Given the description of an element on the screen output the (x, y) to click on. 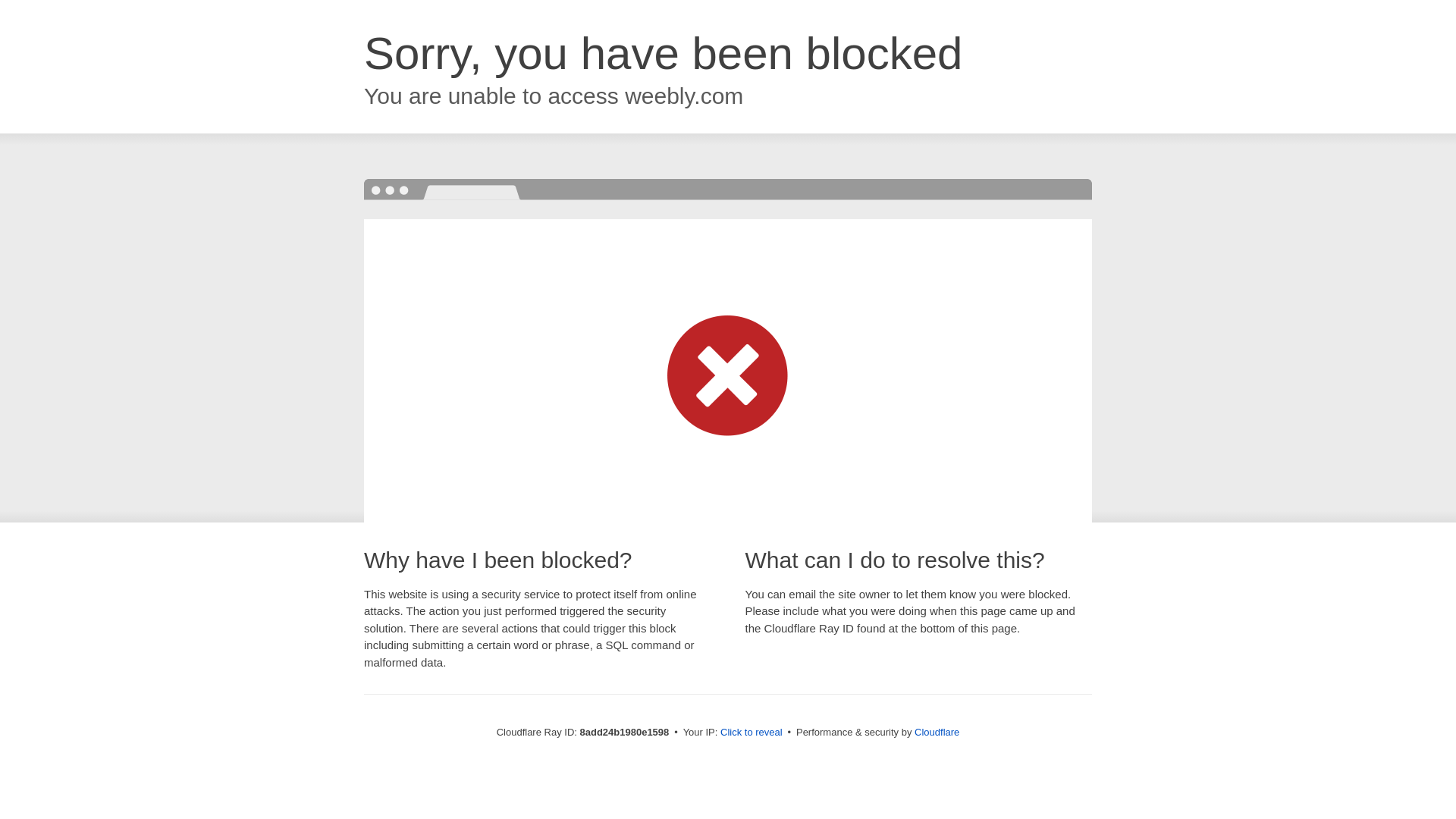
Cloudflare (936, 731)
Click to reveal (751, 732)
